Given the description of an element on the screen output the (x, y) to click on. 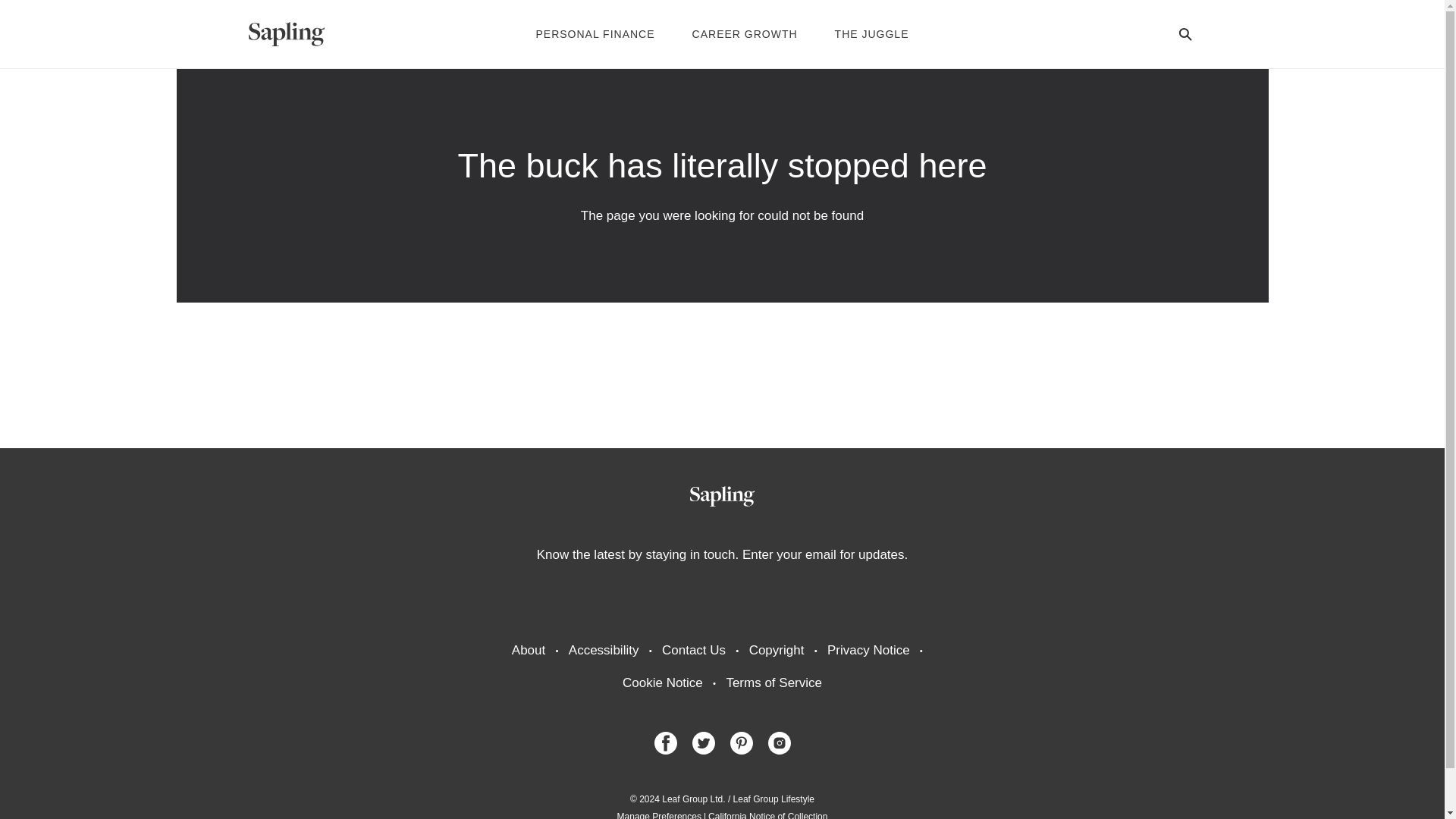
About (528, 649)
Contact Us (693, 649)
Terms of Service (773, 682)
Privacy Notice (868, 649)
Cookie Notice (663, 682)
Copyright (777, 649)
Accessibility (604, 649)
